Given the description of an element on the screen output the (x, y) to click on. 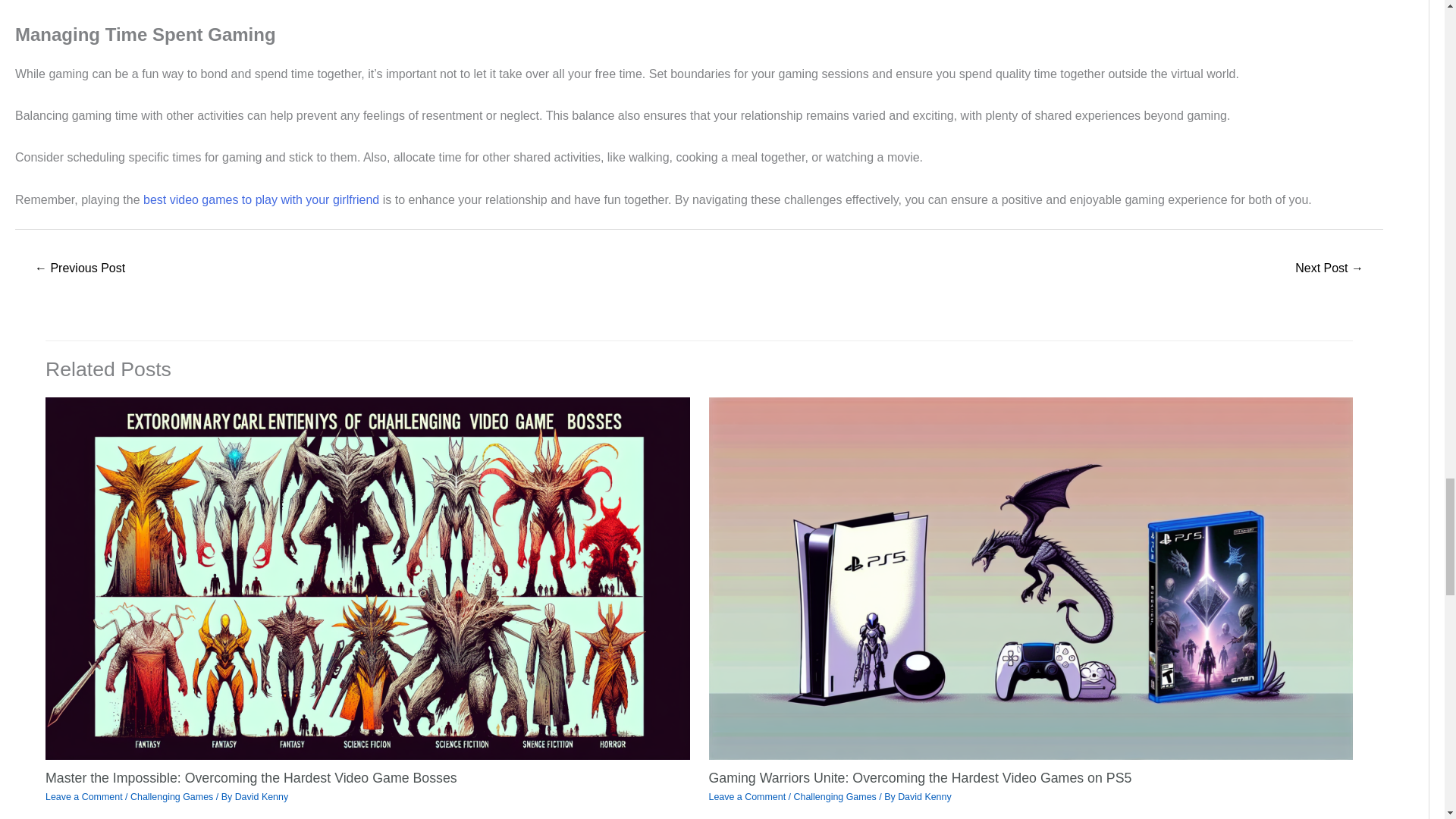
View all posts by David Kenny (261, 796)
View all posts by David Kenny (925, 796)
